Given the description of an element on the screen output the (x, y) to click on. 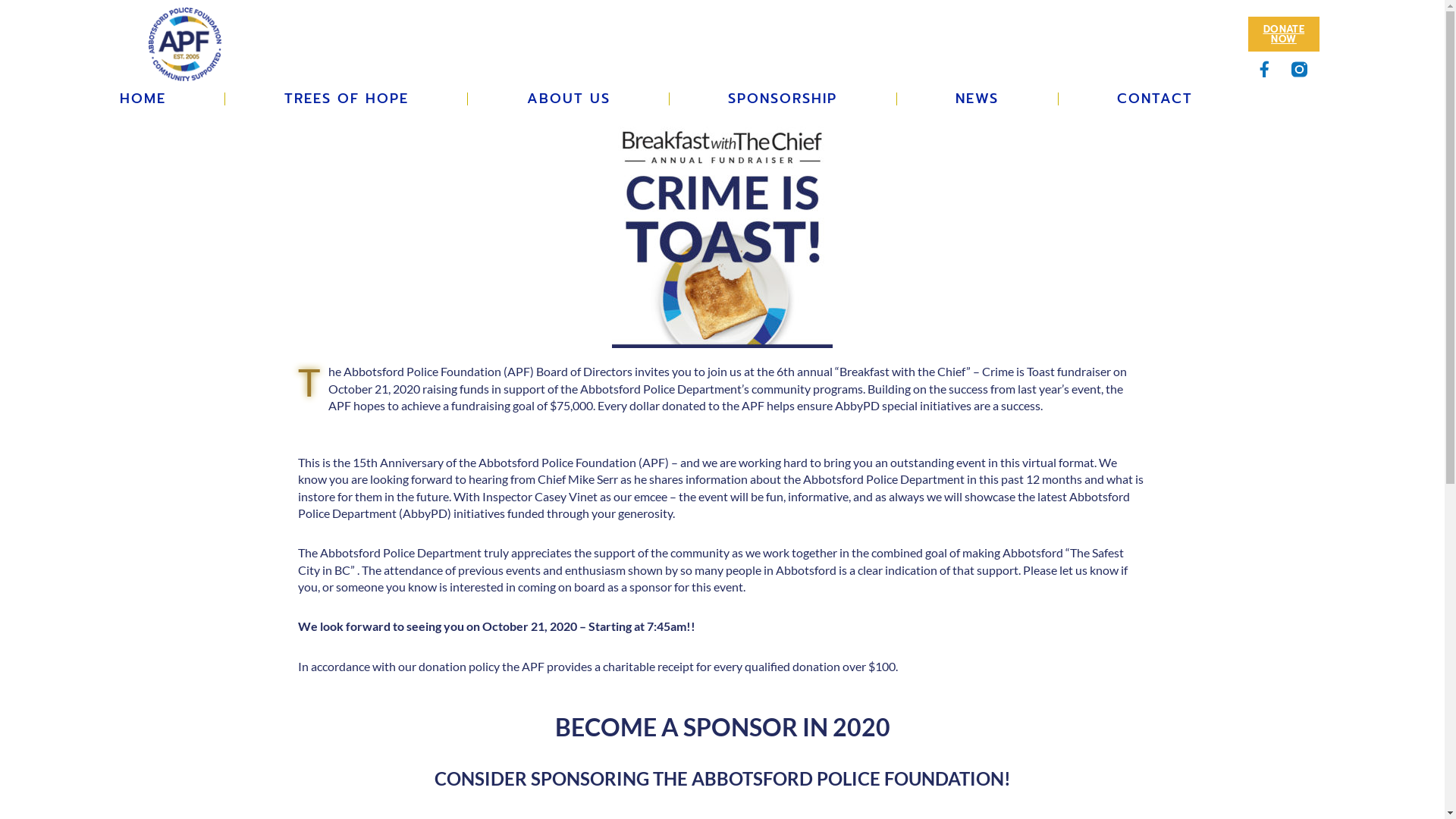
ABOUT US Element type: text (568, 98)
NEWS Element type: text (977, 98)
CONTACT Element type: text (1155, 98)
DONATE NOW Element type: text (1283, 33)
TREES OF HOPE Element type: text (345, 98)
HOME Element type: text (142, 98)
SPONSORSHIP Element type: text (782, 98)
Skip to content Element type: text (11, 31)
